Given the description of an element on the screen output the (x, y) to click on. 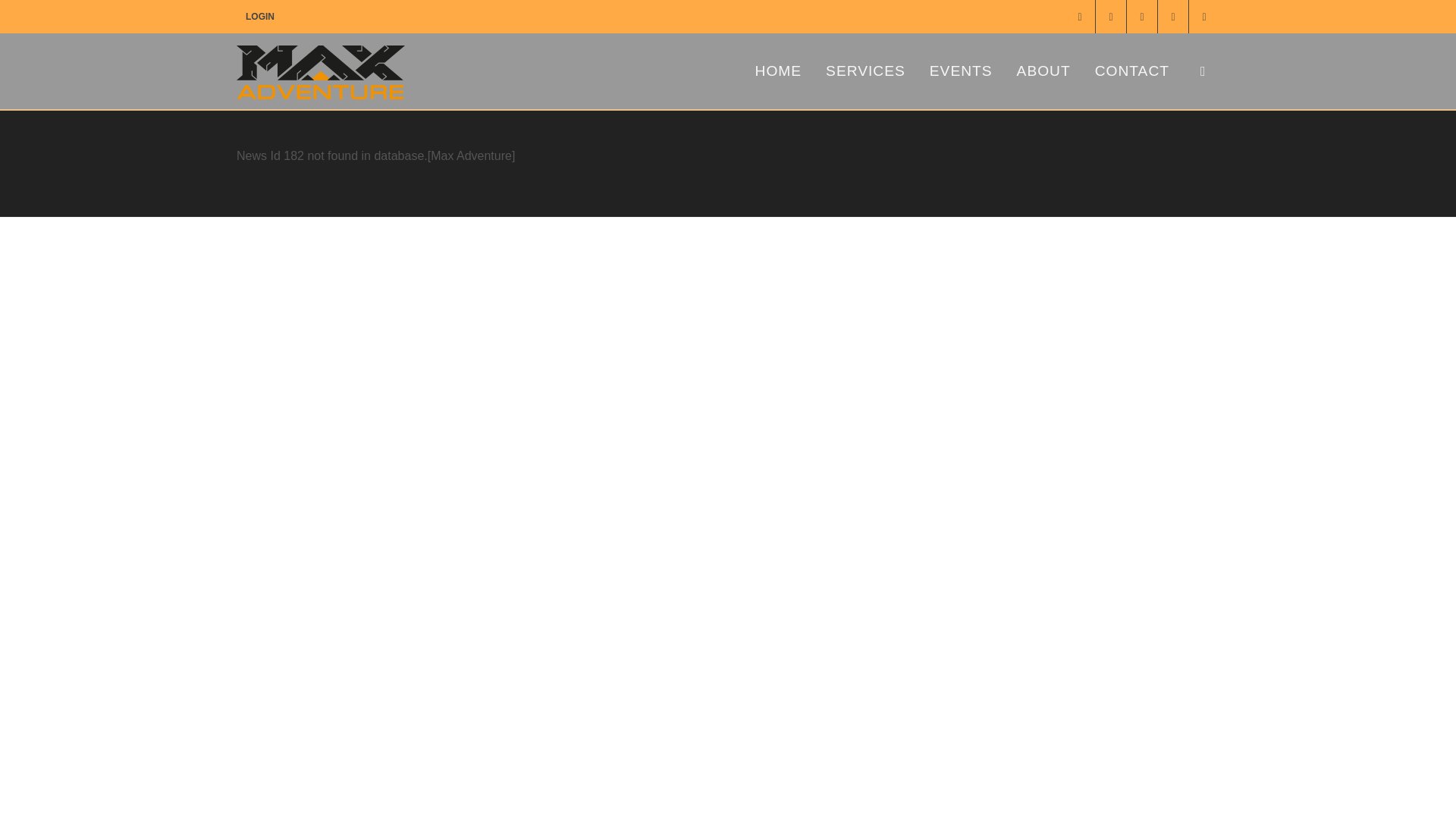
EVENTS (961, 70)
LOGIN (259, 16)
SERVICES (865, 70)
ABOUT (1043, 70)
HOME (778, 70)
CONTACT (1131, 70)
